Given the description of an element on the screen output the (x, y) to click on. 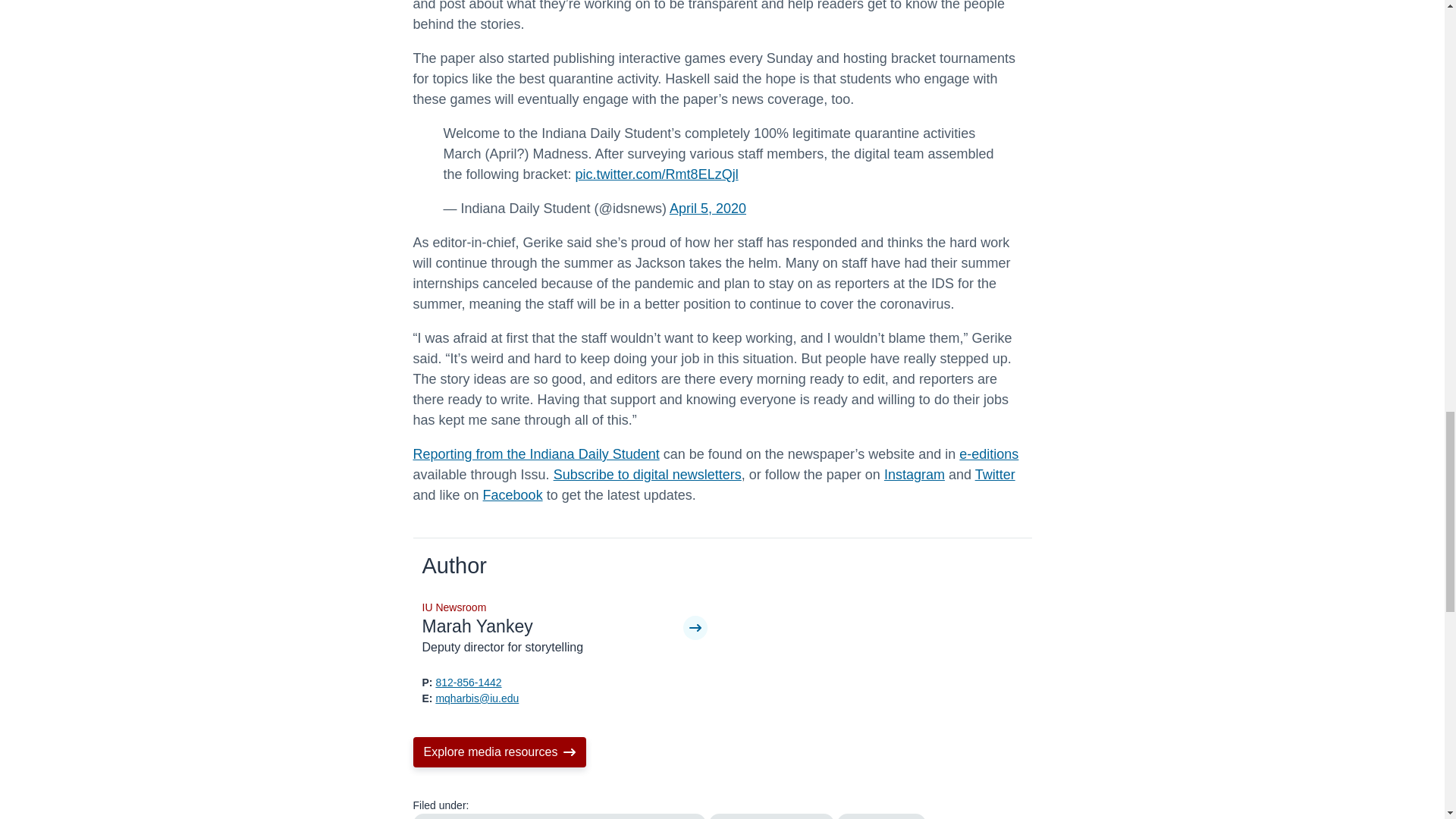
Bicentennial Priority: A Commitment to Student Success (558, 816)
Subscribe to digital newsletters (647, 474)
812-856-1442 (467, 682)
Instagram (913, 474)
Explore media resources (499, 752)
Inside IU Bloomington (770, 816)
Twitter (994, 474)
e-editions (988, 453)
April 5, 2020 (707, 208)
Marah Yankey (552, 626)
